Given the description of an element on the screen output the (x, y) to click on. 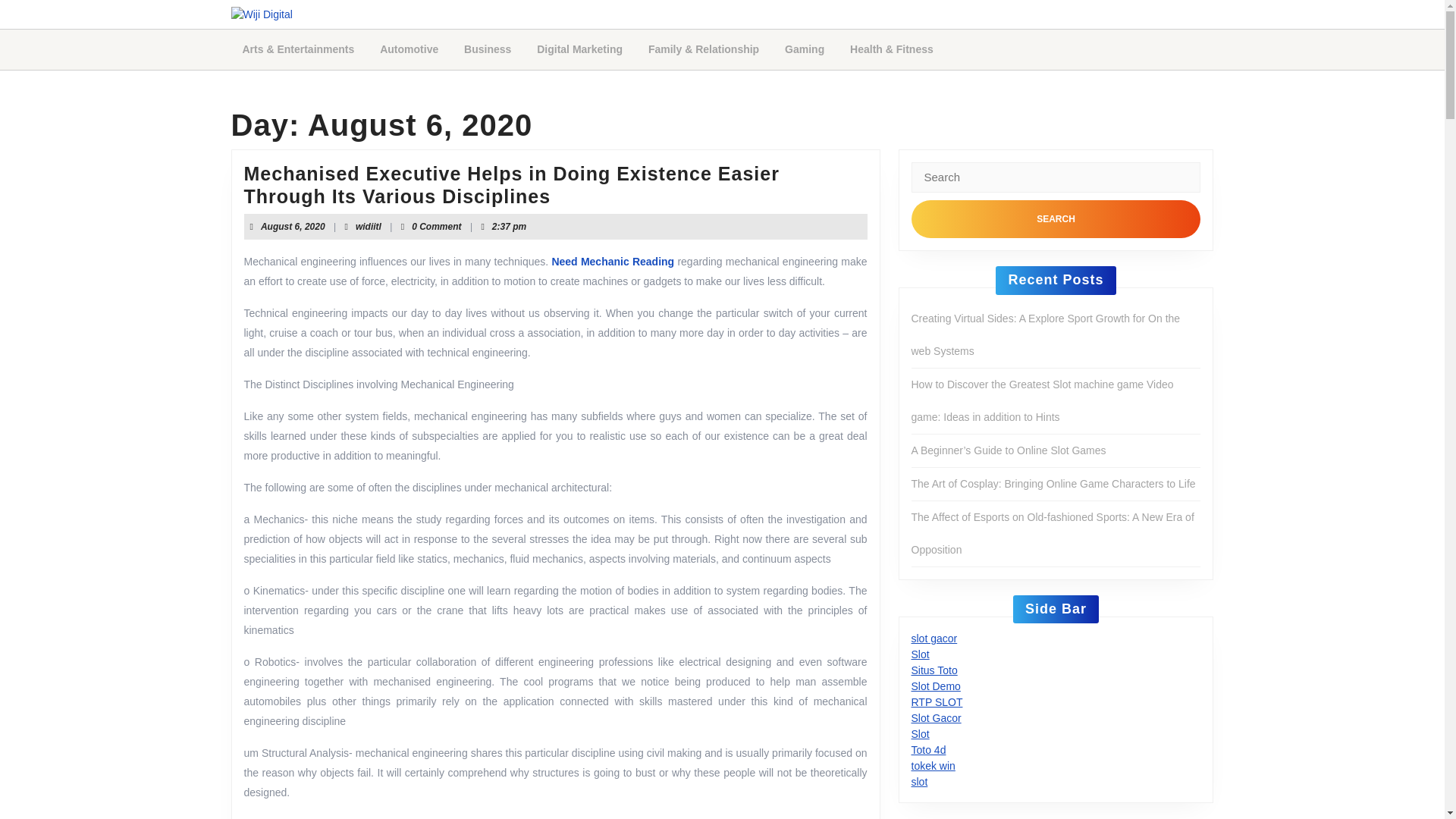
Search (1056, 218)
Search (1056, 218)
Automotive (408, 49)
slot gacor (934, 638)
Need Mechanic Reading (612, 261)
The Art of Cosplay: Bringing Online Game Characters to Life (1053, 483)
Search (368, 226)
Gaming (1056, 218)
Business (804, 49)
